Given the description of an element on the screen output the (x, y) to click on. 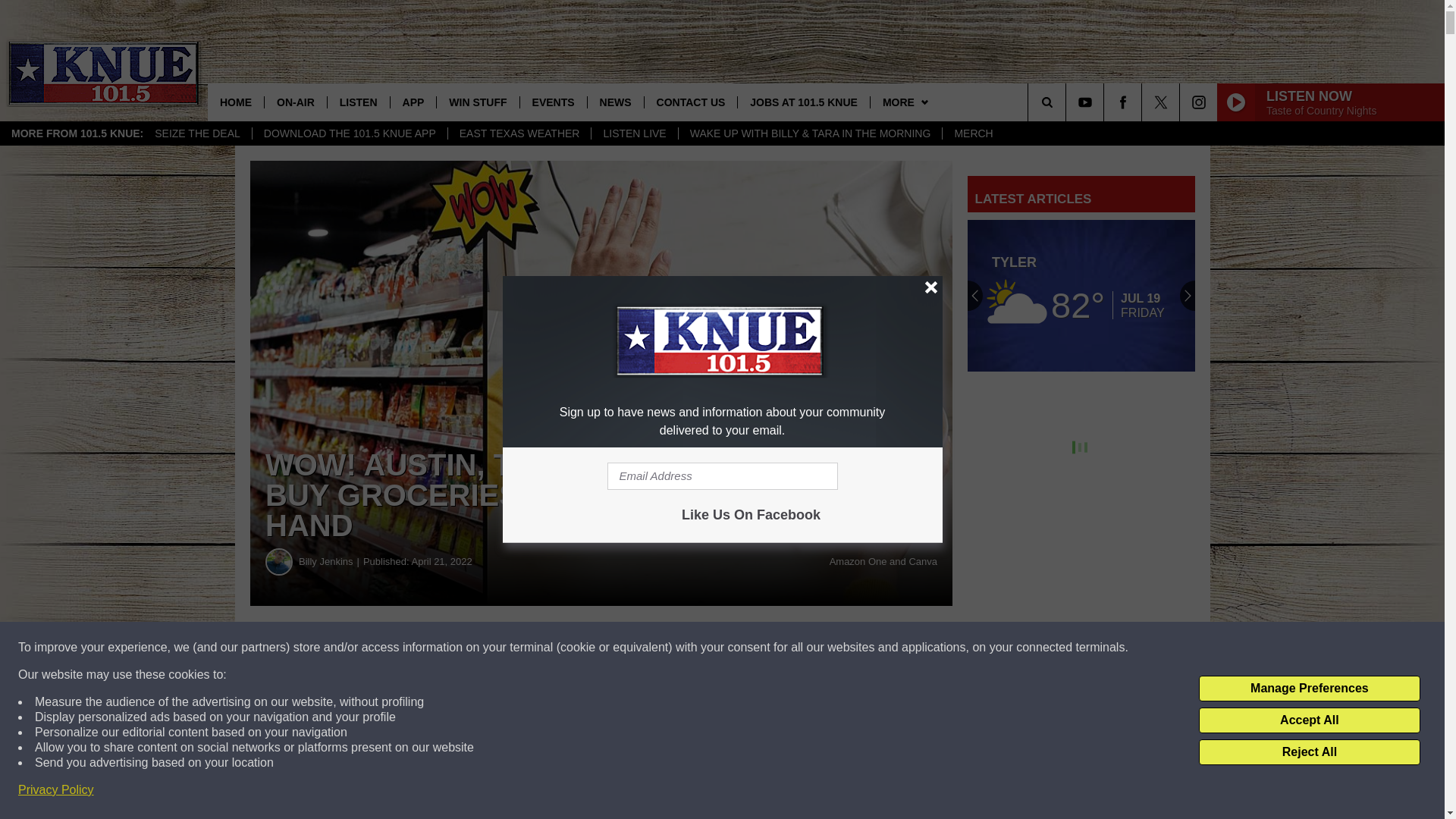
SEARCH (1068, 102)
Tyler Weather (1081, 295)
Share on Twitter (741, 647)
SEARCH (1068, 102)
ON-AIR (294, 102)
SEIZE THE DEAL (196, 133)
Share on Facebook (460, 647)
Reject All (1309, 751)
EAST TEXAS WEATHER (518, 133)
Privacy Policy (55, 789)
MERCH (973, 133)
APP (413, 102)
LISTEN (358, 102)
Manage Preferences (1309, 688)
Accept All (1309, 720)
